Given the description of an element on the screen output the (x, y) to click on. 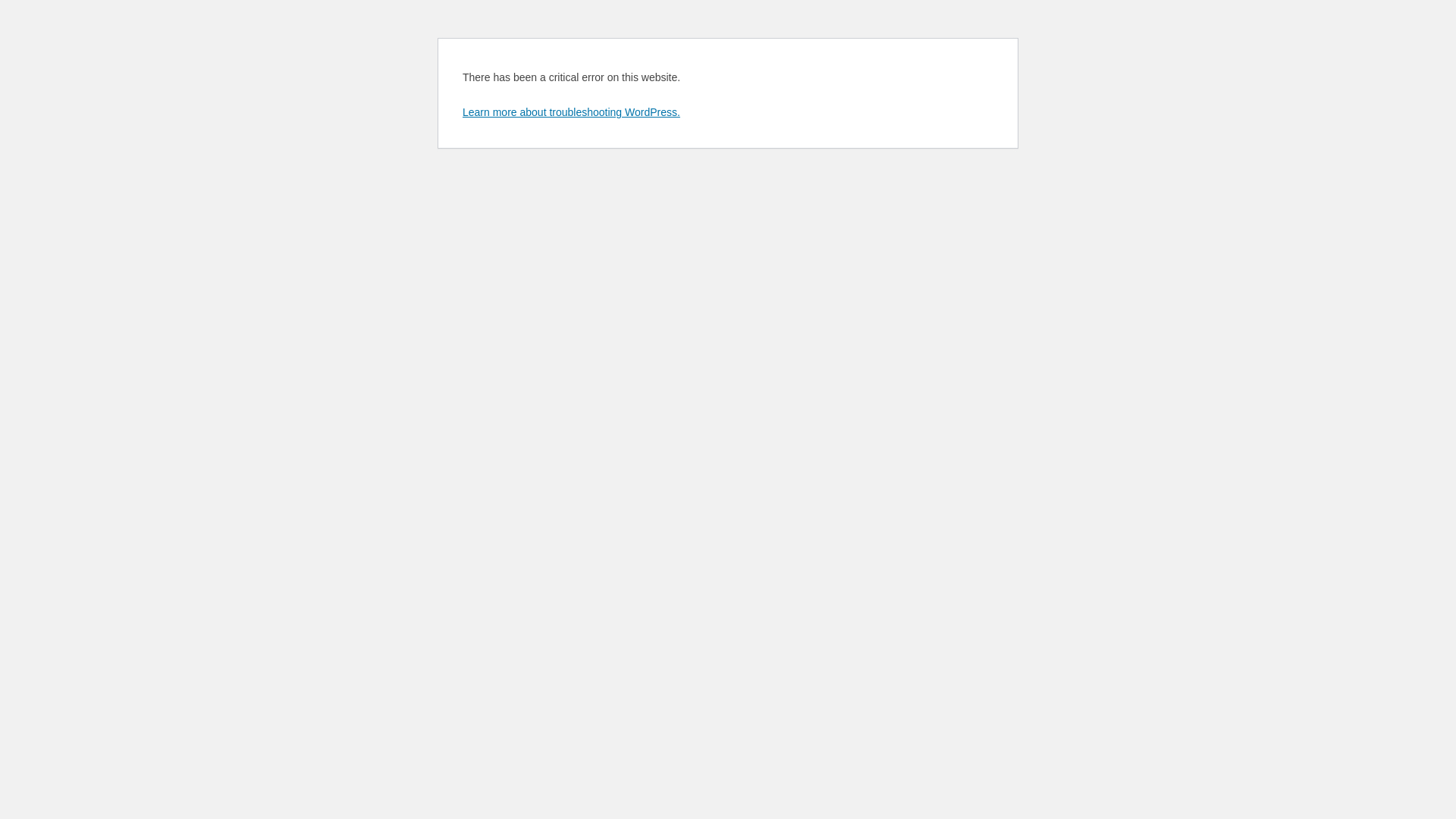
Learn more about troubleshooting WordPress. Element type: text (571, 112)
